Given the description of an element on the screen output the (x, y) to click on. 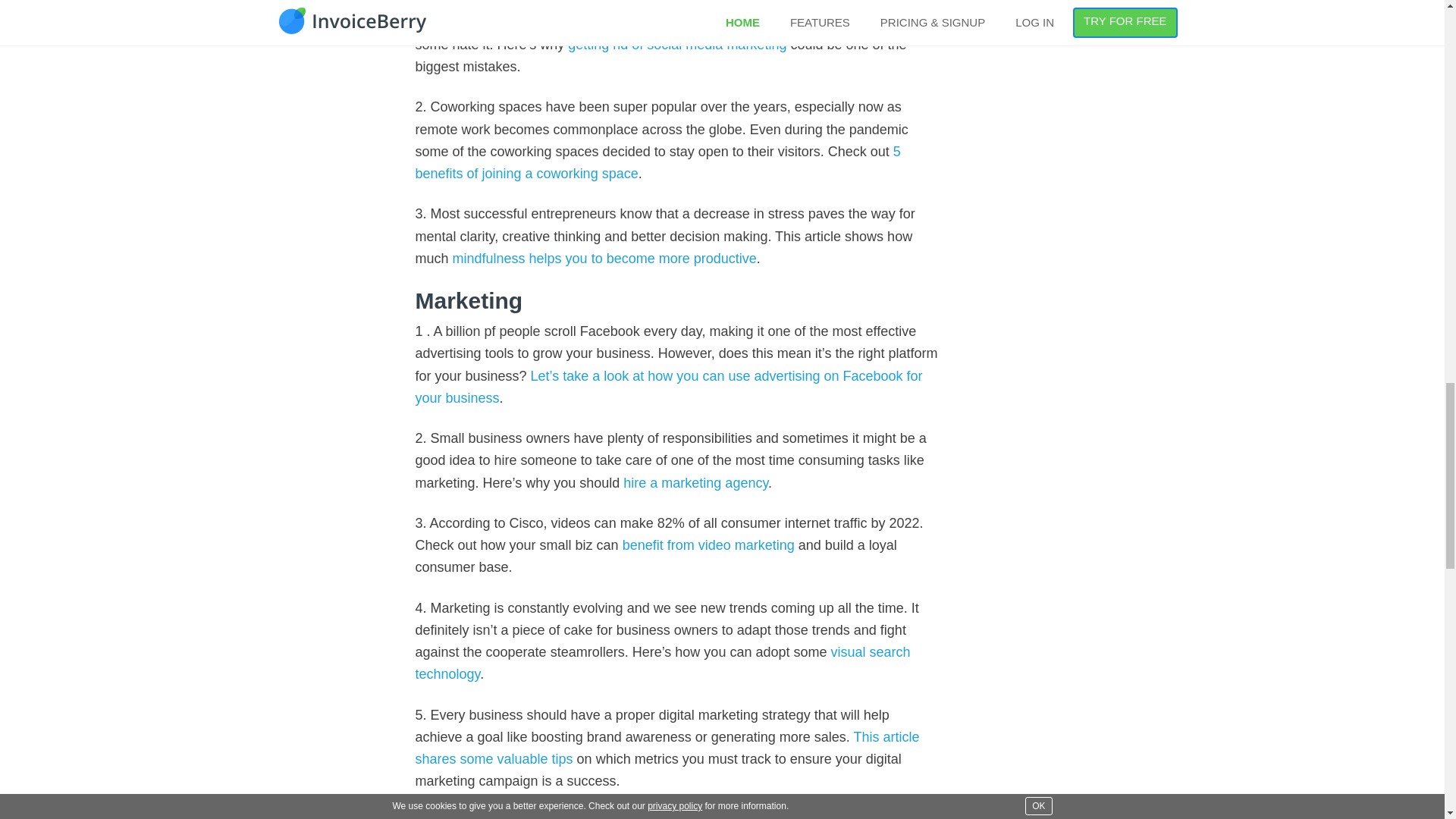
benefit from video marketing (708, 544)
This article shares some valuable tips (667, 747)
visual search technology (662, 662)
5 benefits of joining a coworking space (657, 162)
getting rid of social media marketing (676, 44)
hire a marketing agency (695, 482)
mindfulness helps you to become more productive (604, 258)
